Given the description of an element on the screen output the (x, y) to click on. 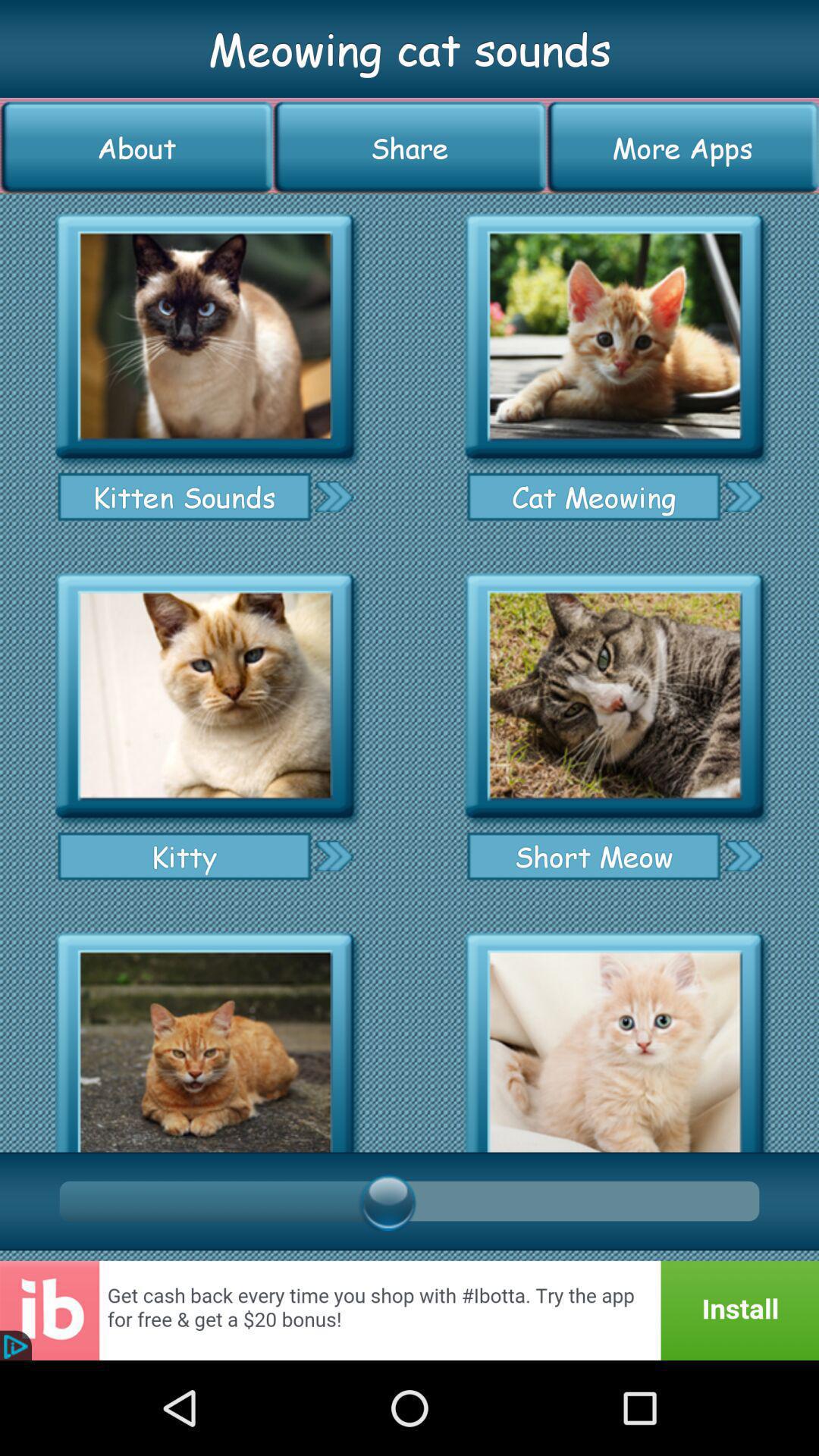
short meow sound (613, 696)
